Given the description of an element on the screen output the (x, y) to click on. 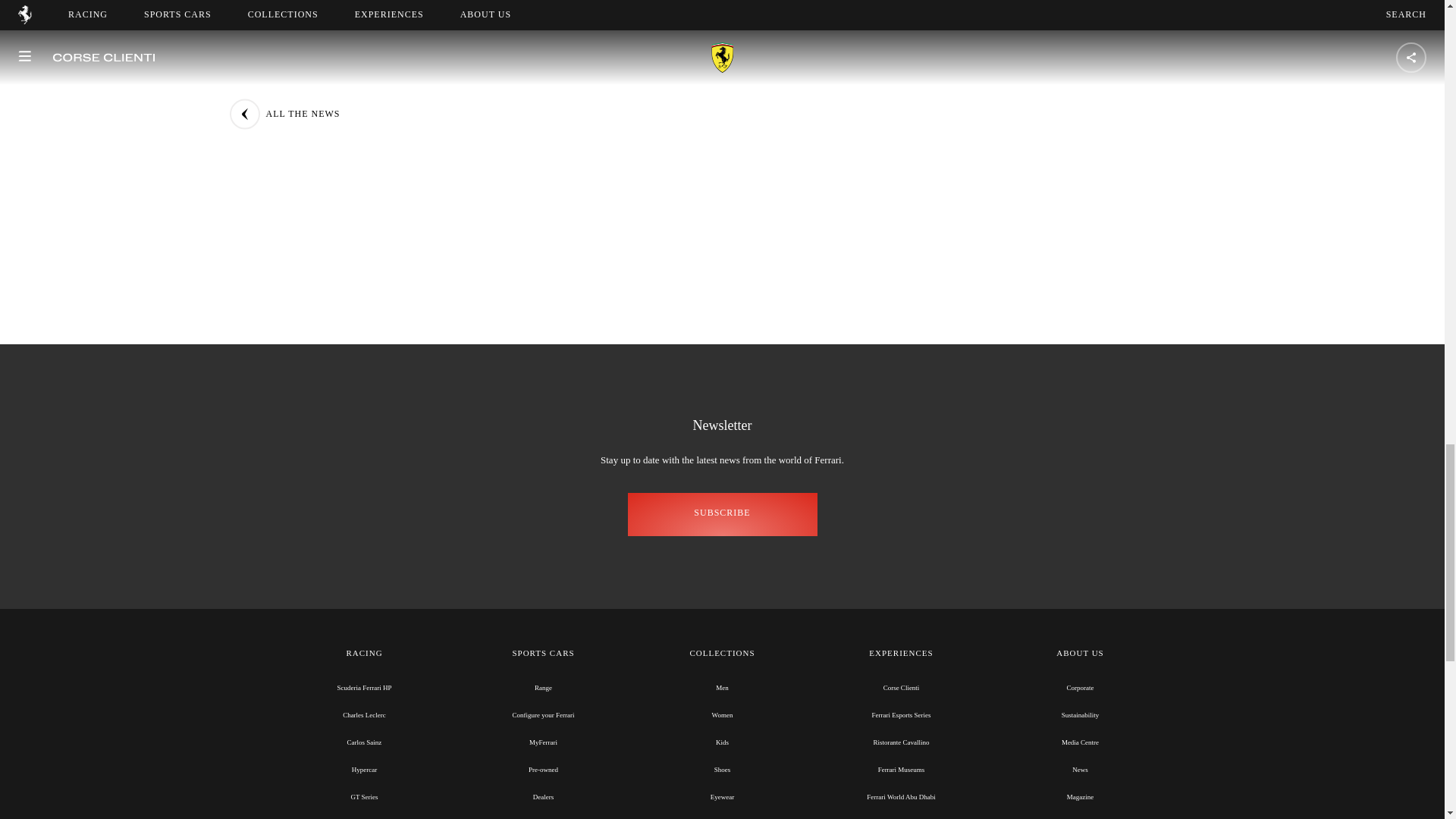
Configure your Ferrari (543, 715)
Charles Leclerc (363, 715)
SUBSCRIBE (721, 514)
Men (722, 687)
Dealers (542, 796)
Pre-owned (542, 769)
Carlos Sainz (364, 742)
Hypercar (364, 769)
Range (542, 687)
Women (722, 715)
